Given the description of an element on the screen output the (x, y) to click on. 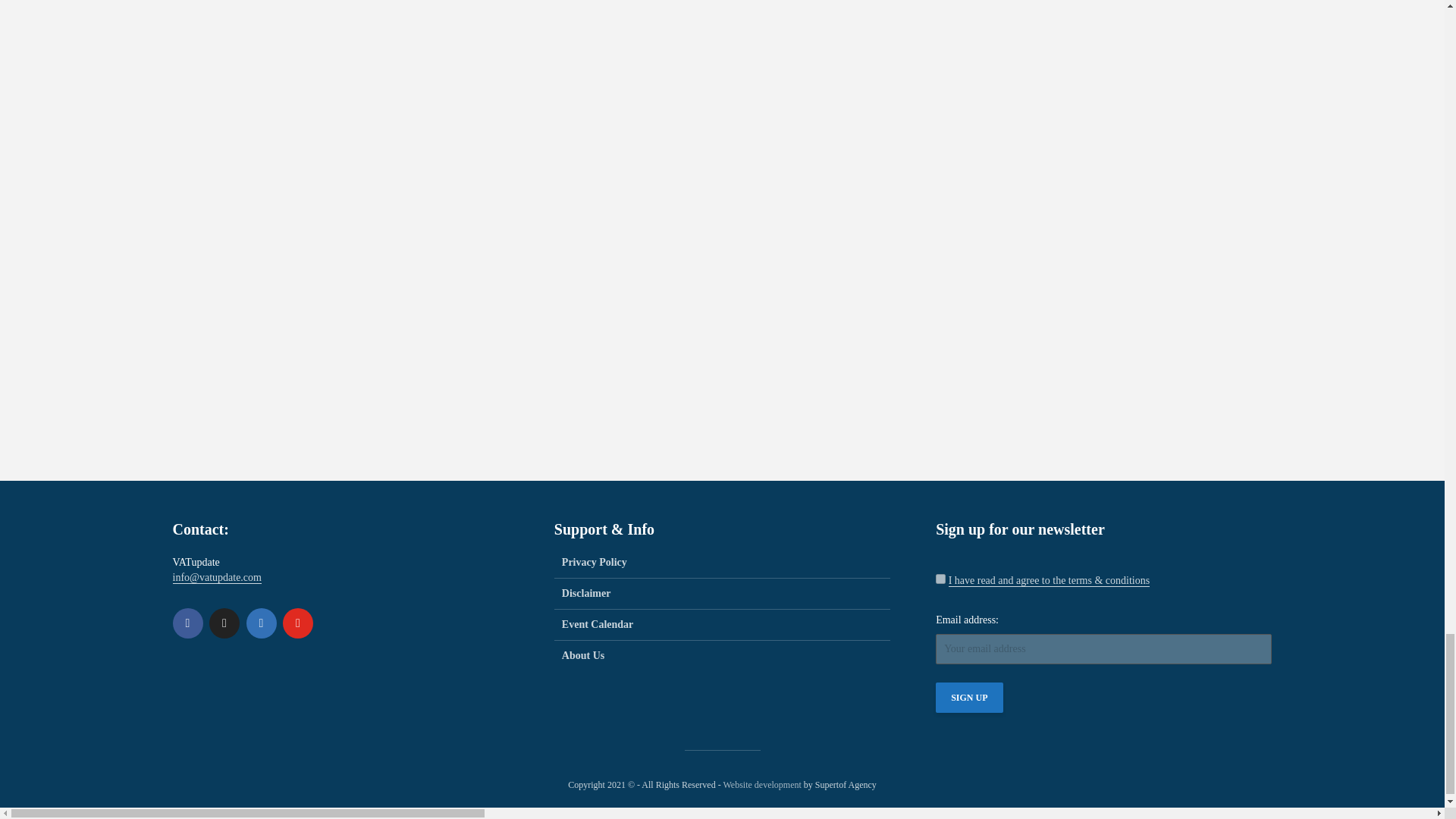
Facebook (188, 623)
YouTube (297, 623)
Sign up (969, 697)
Linkedin (261, 623)
1 (940, 578)
